Given the description of an element on the screen output the (x, y) to click on. 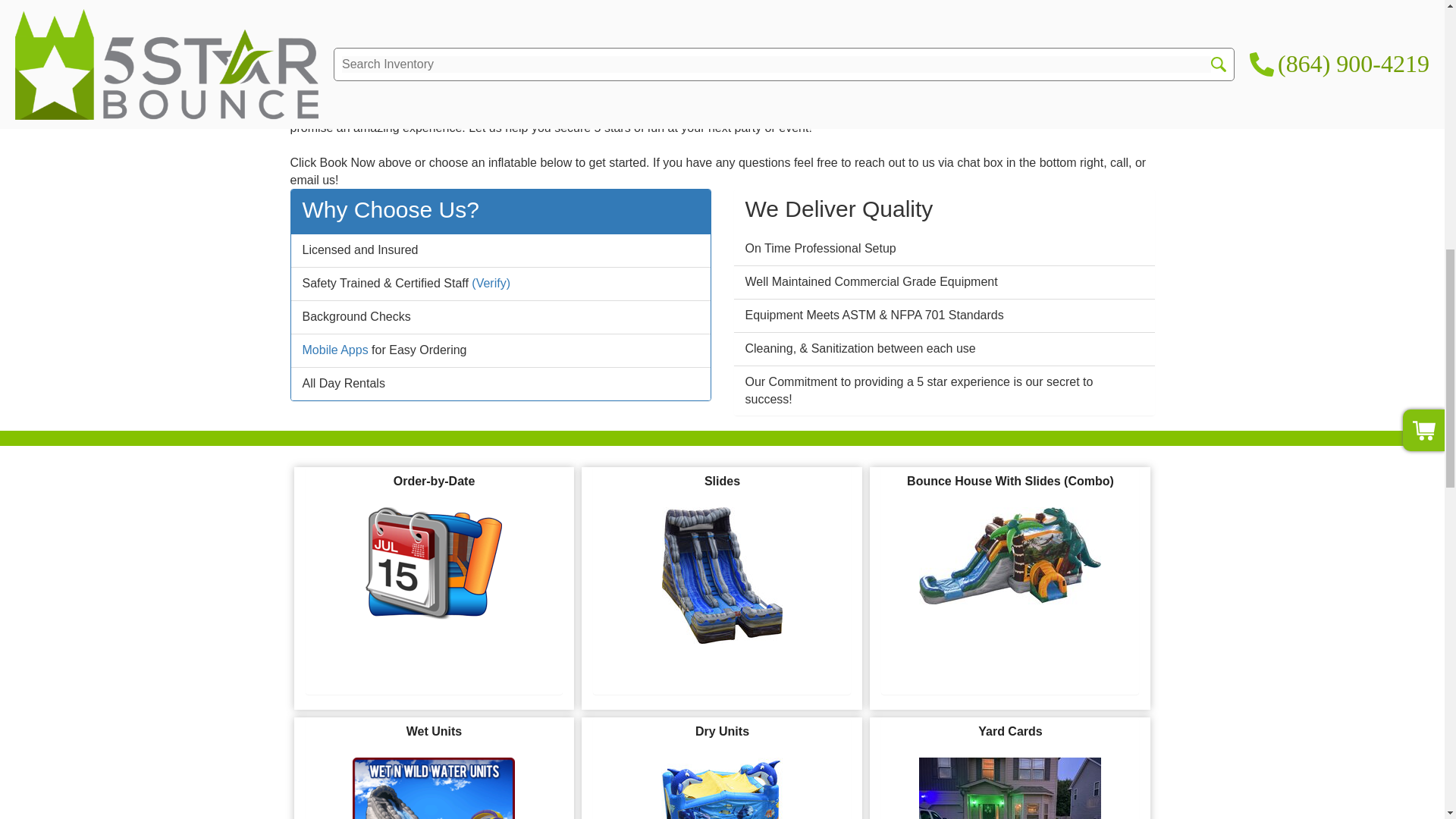
Order-by-Date (433, 562)
Dry Units (722, 788)
Yard Cards (1009, 788)
Slides (722, 574)
Wet Units (433, 788)
Mobile Apps (334, 349)
